Given the description of an element on the screen output the (x, y) to click on. 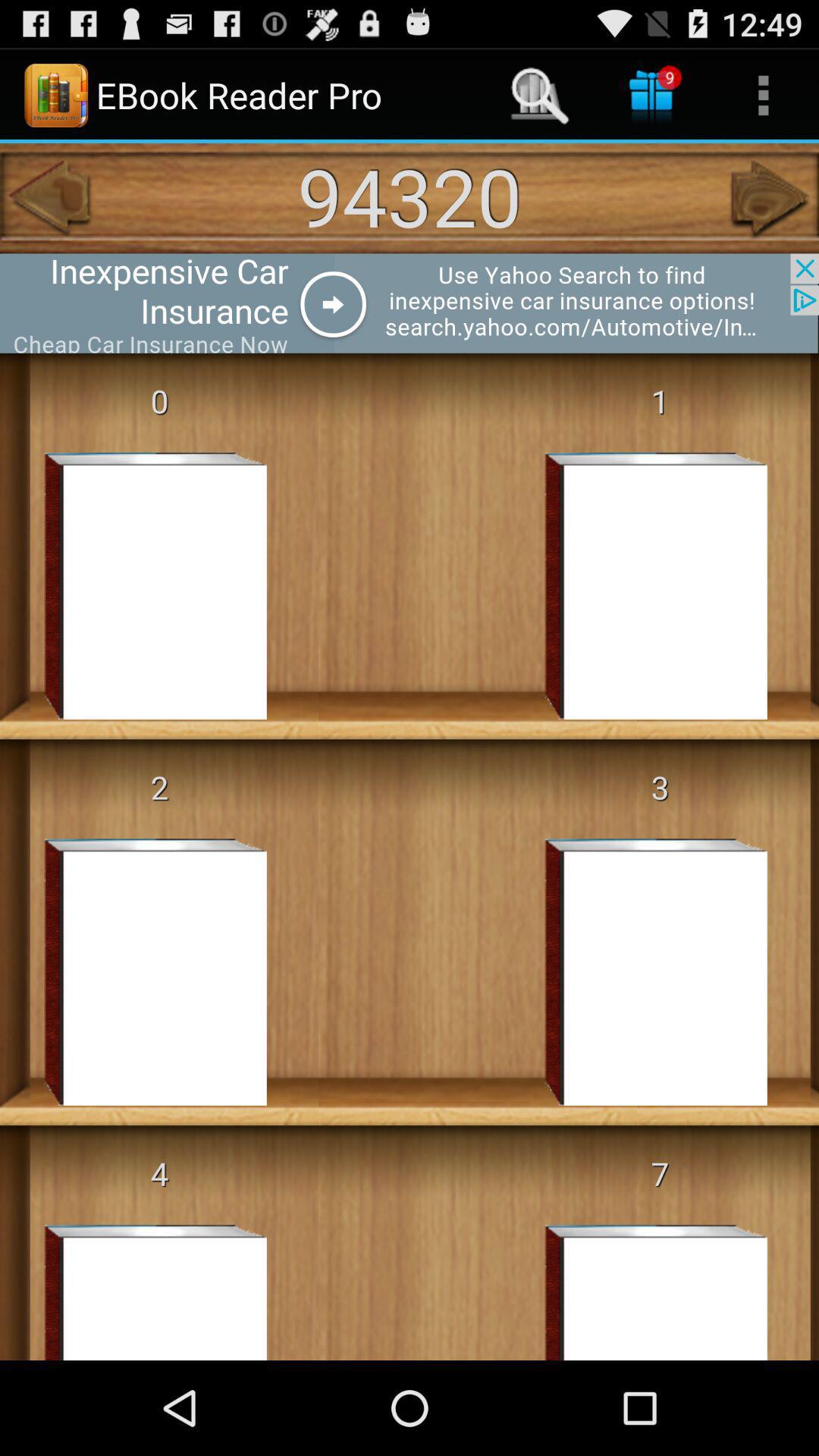
turn off item above the 94320 item (651, 95)
